Given the description of an element on the screen output the (x, y) to click on. 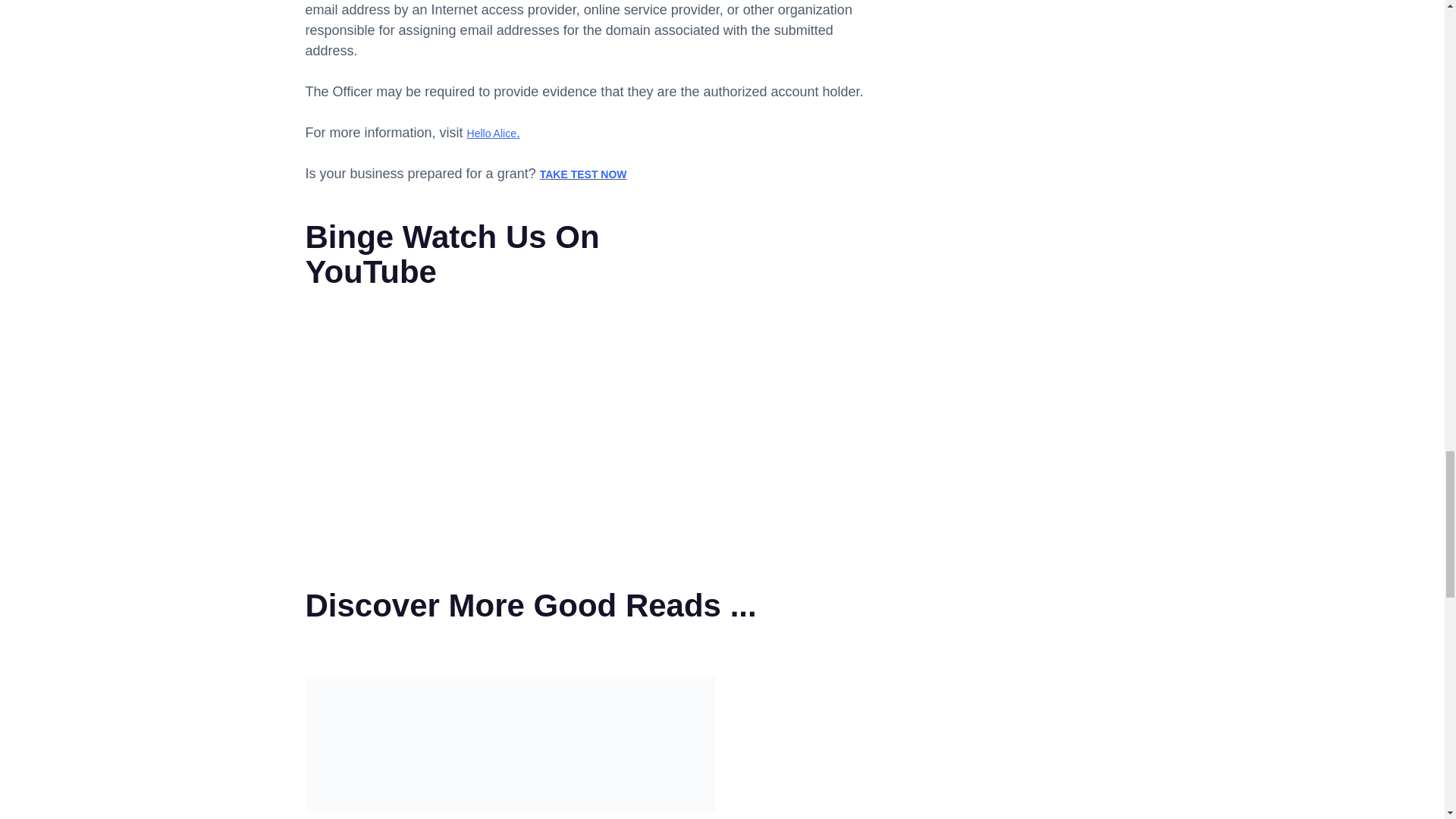
Hello Alice (491, 133)
TAKE TEST NOW (583, 174)
